Given the description of an element on the screen output the (x, y) to click on. 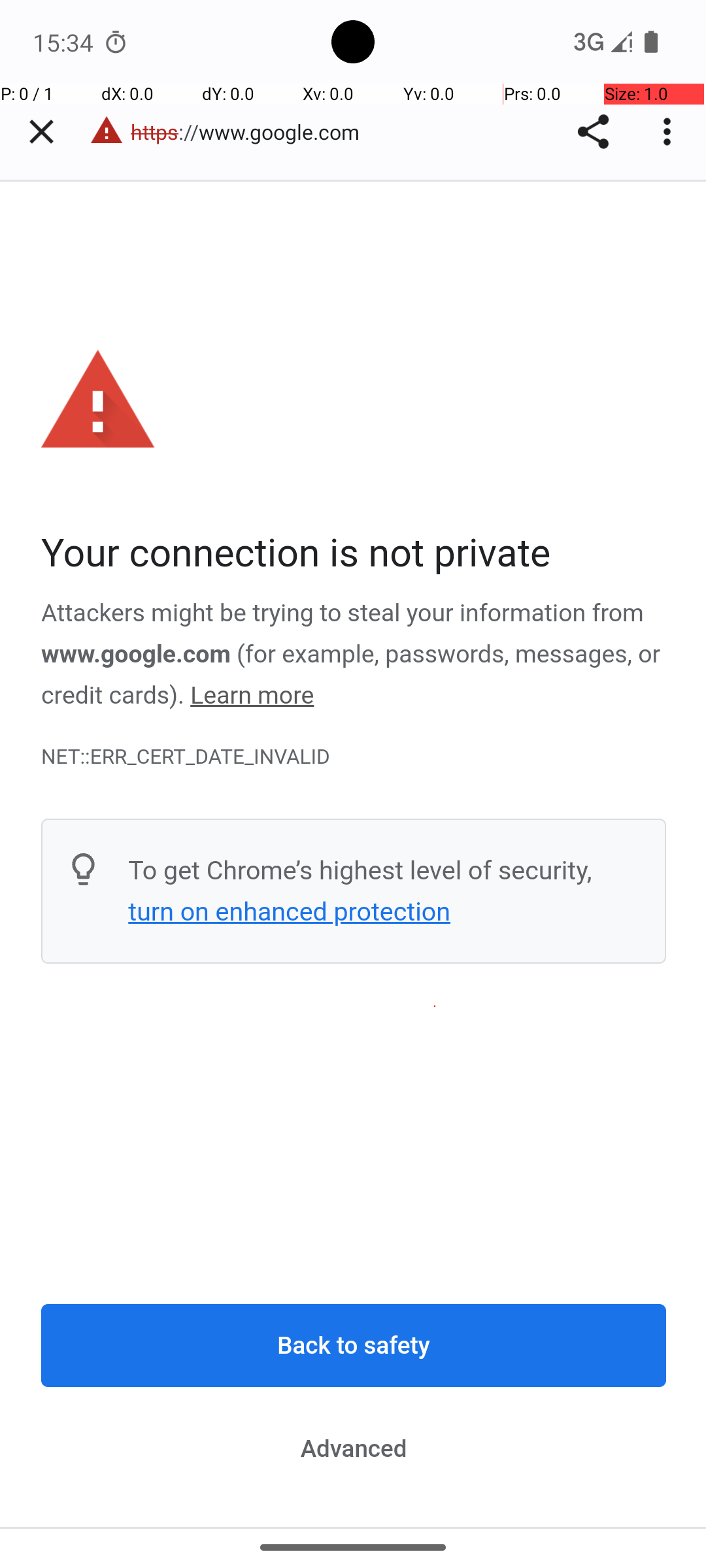
https://www.google.com Element type: android.widget.TextView (251, 131)
www.google.com Element type: android.widget.TextView (136, 653)
